Given the description of an element on the screen output the (x, y) to click on. 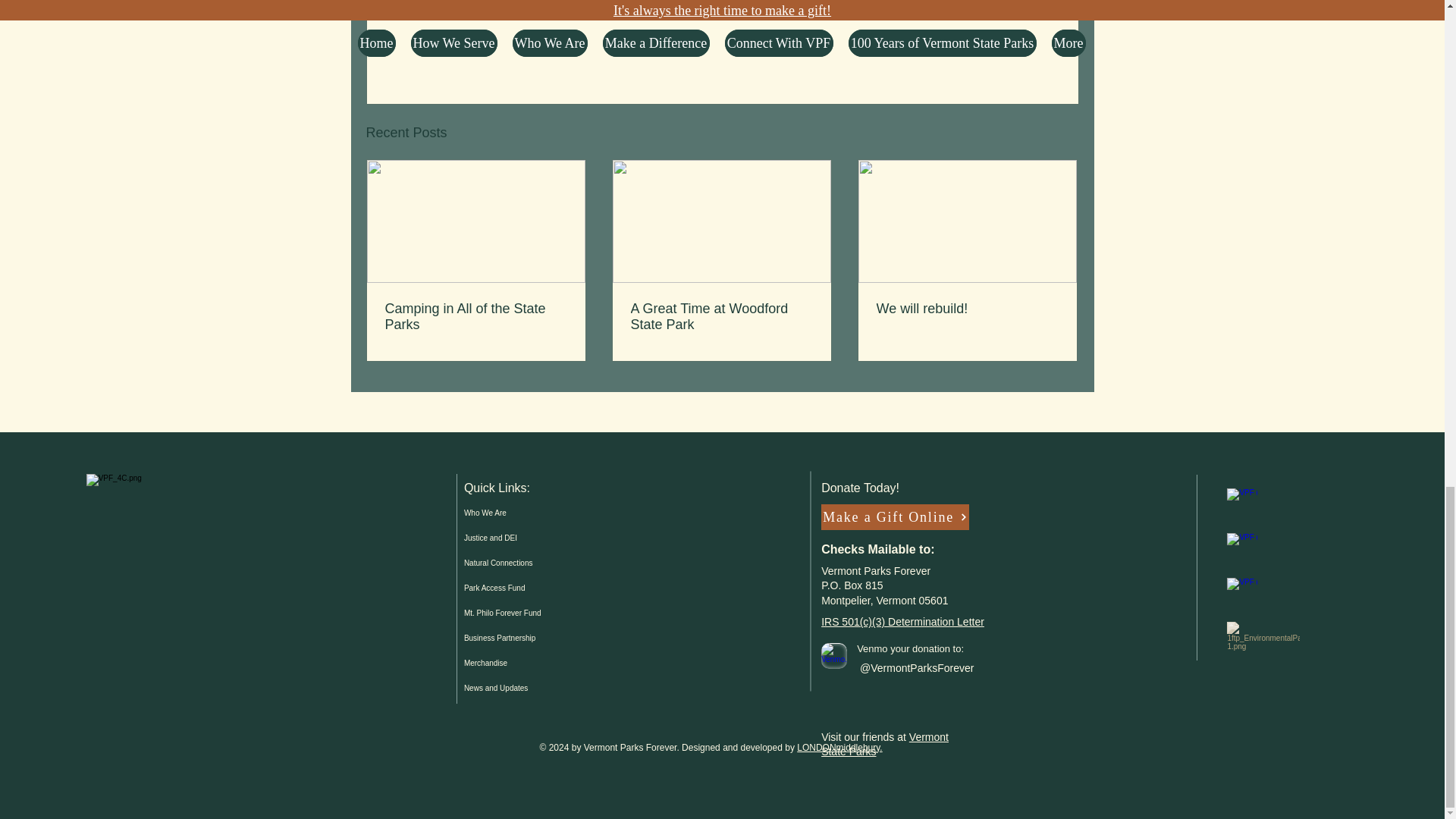
Justice and DEI (541, 537)
We will rebuild! (967, 308)
Park Access Fund (541, 587)
Merchandise (541, 662)
Make a Gift Online (895, 516)
Camping in All of the State Parks (476, 316)
Who We Are (541, 512)
Business Partnership (541, 637)
Mt. Philo Forever Fund (541, 612)
News and Updates (541, 688)
Natural Connections (541, 562)
Vermont State Parks (885, 744)
A Great Time at Woodford State Park (721, 316)
